Given the description of an element on the screen output the (x, y) to click on. 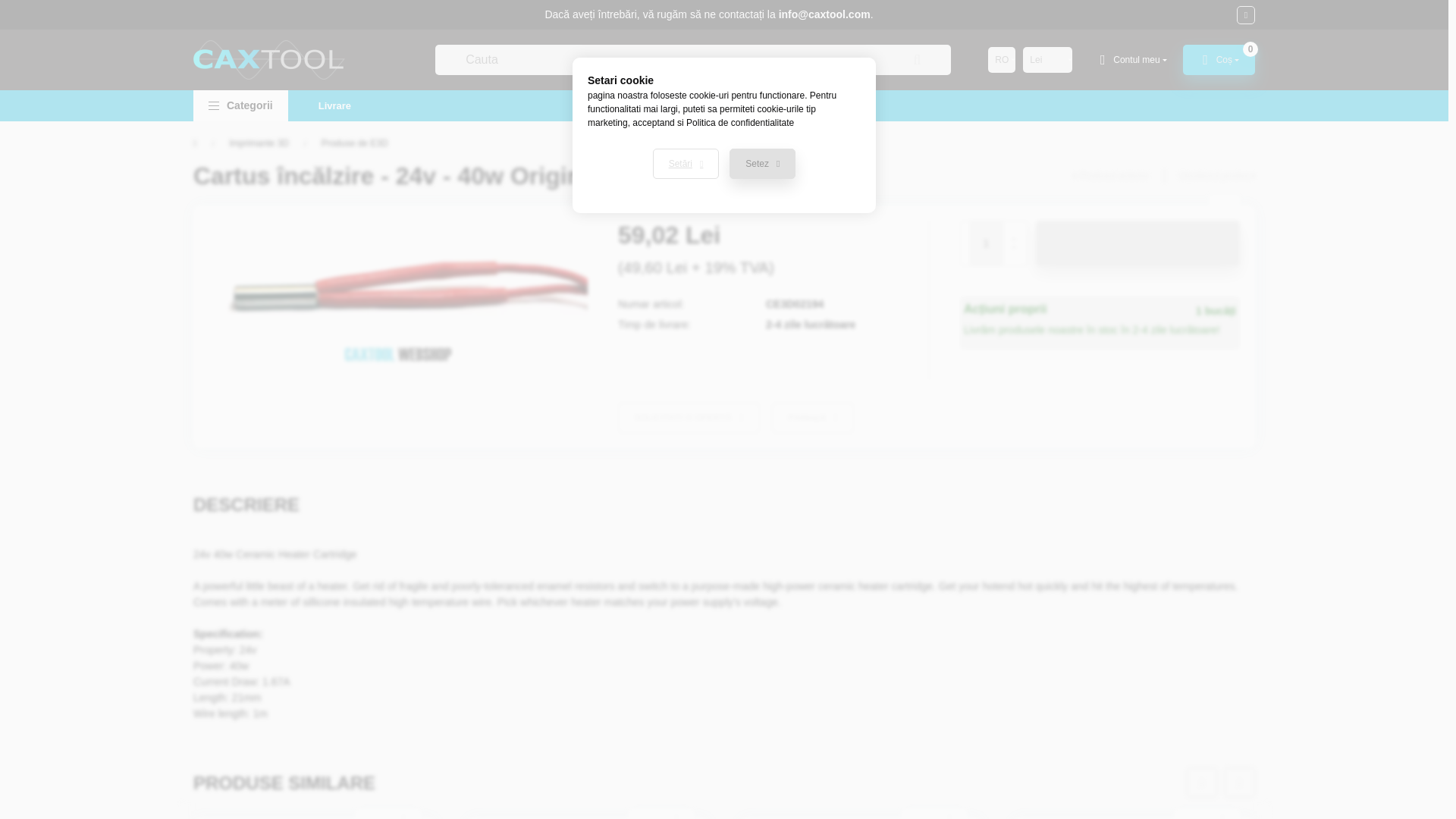
Contul meu (1131, 60)
Imprimante 3D (258, 142)
Livrare (334, 105)
Categorii (240, 105)
Produse de E3D (354, 142)
Produsul anterior (1110, 175)
Produsul anterior (1110, 175)
